Given the description of an element on the screen output the (x, y) to click on. 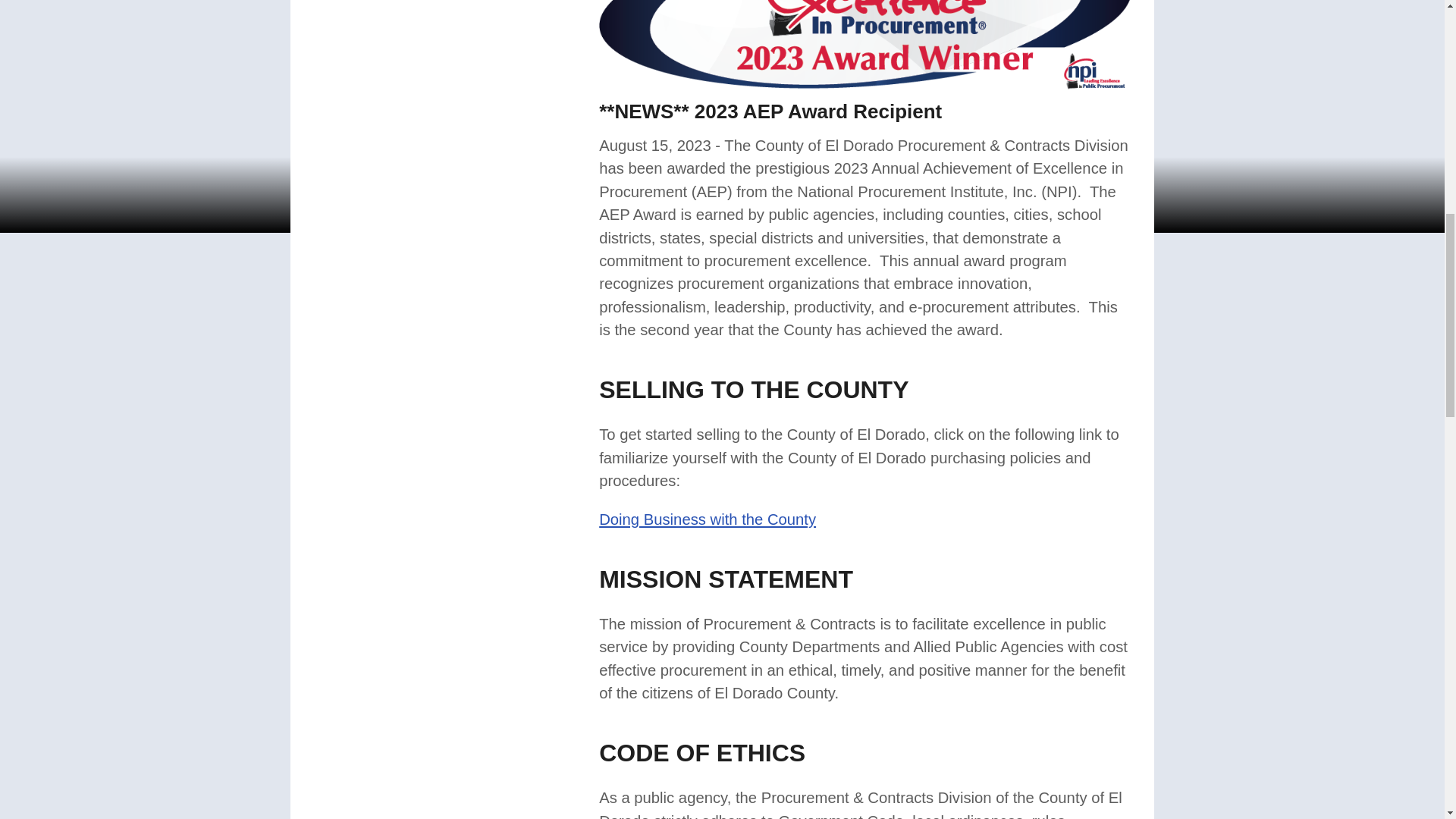
Doing Business with the County - Vendor Guide (706, 519)
